Given the description of an element on the screen output the (x, y) to click on. 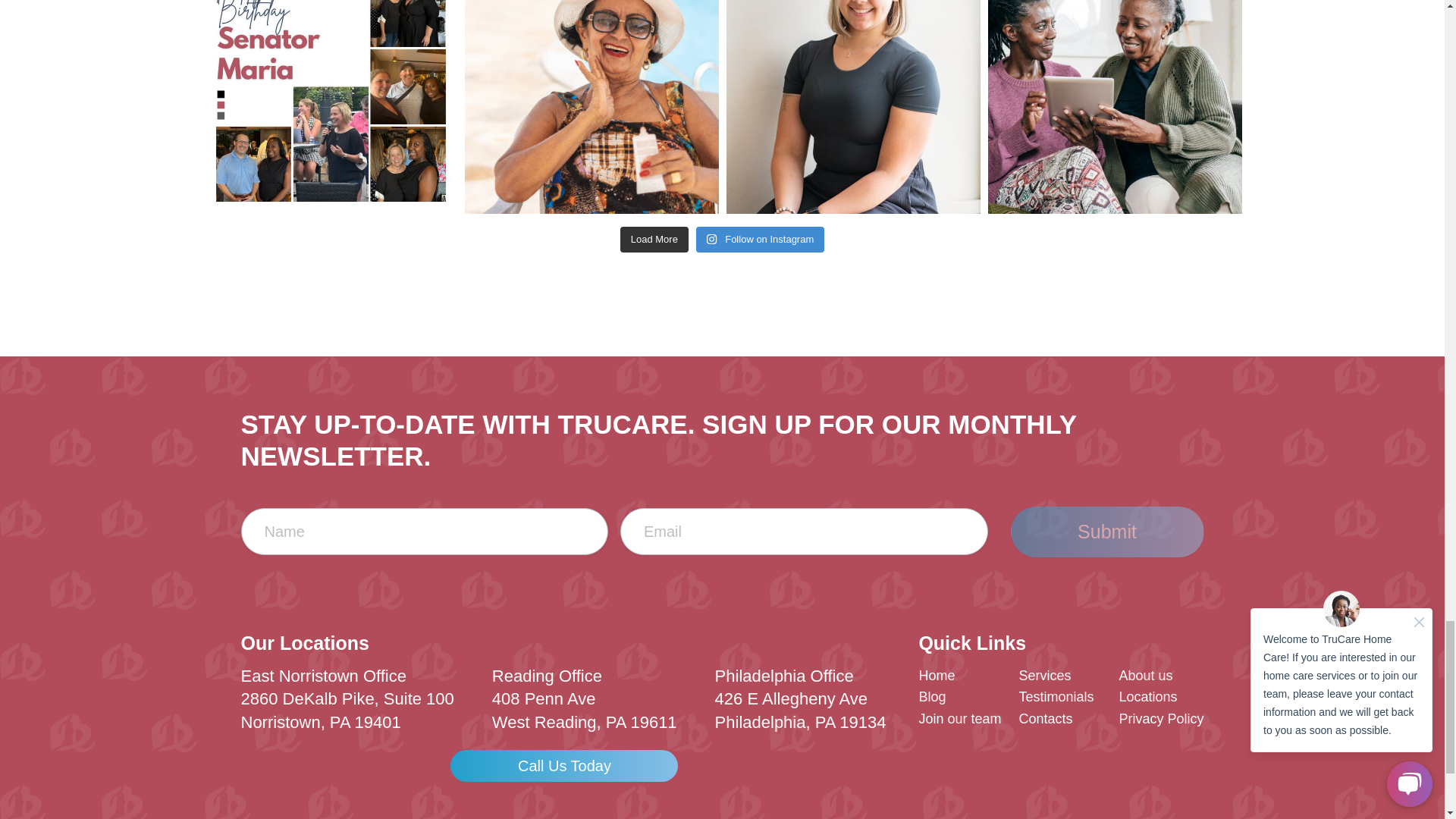
Submit (1107, 531)
Call Us Today (563, 766)
About us (1145, 675)
Services (1043, 675)
Blog (931, 696)
Follow on Instagram (759, 239)
Load More (654, 239)
Submit (1107, 531)
Home (936, 675)
